Given the description of an element on the screen output the (x, y) to click on. 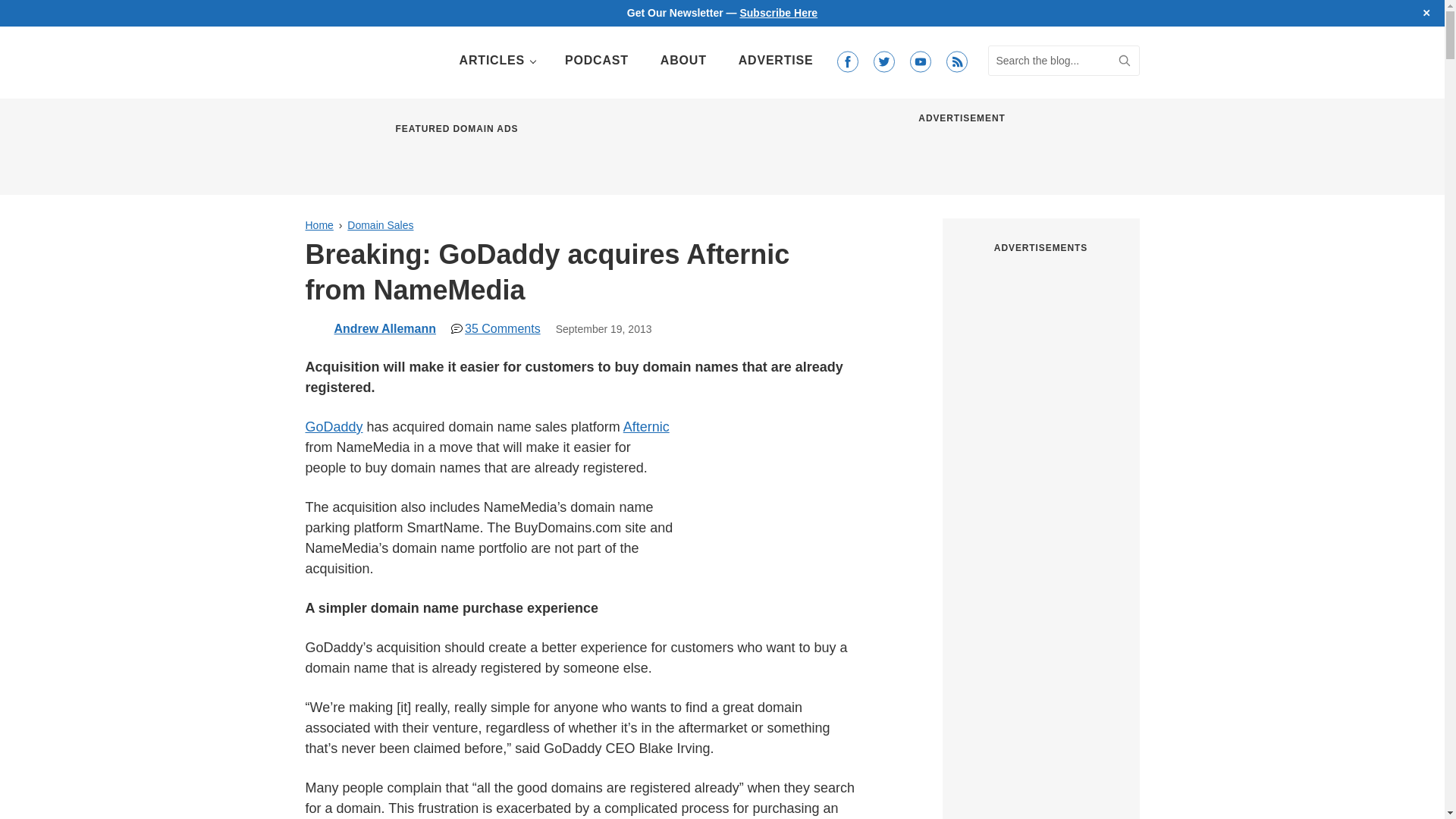
Submit search (1123, 60)
Afternic (646, 426)
PODCAST (596, 60)
ARTICLES (495, 60)
Home (318, 224)
Domain Sales (380, 224)
ABOUT (683, 60)
ADVERTISE (775, 60)
Andrew Allemann (384, 328)
Submit search (1123, 60)
GoDaddy (333, 426)
Submit search (1123, 60)
Subscribe Here (777, 12)
35 Comments (495, 328)
